Given the description of an element on the screen output the (x, y) to click on. 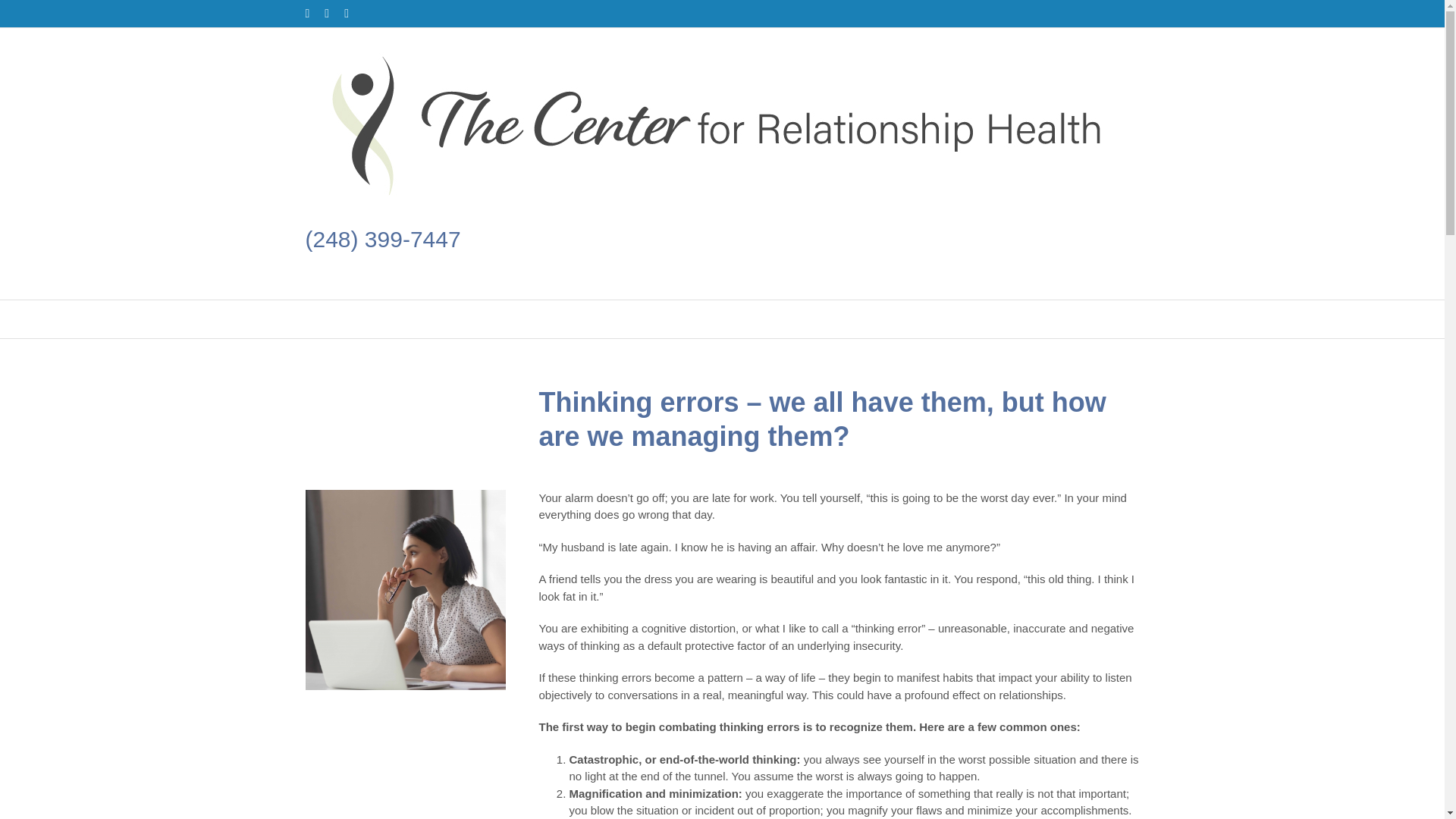
BLOG (814, 319)
HOME (493, 319)
CONTACT (901, 319)
OUR SERVICES (601, 319)
OUR TEAM (724, 319)
